Given the description of an element on the screen output the (x, y) to click on. 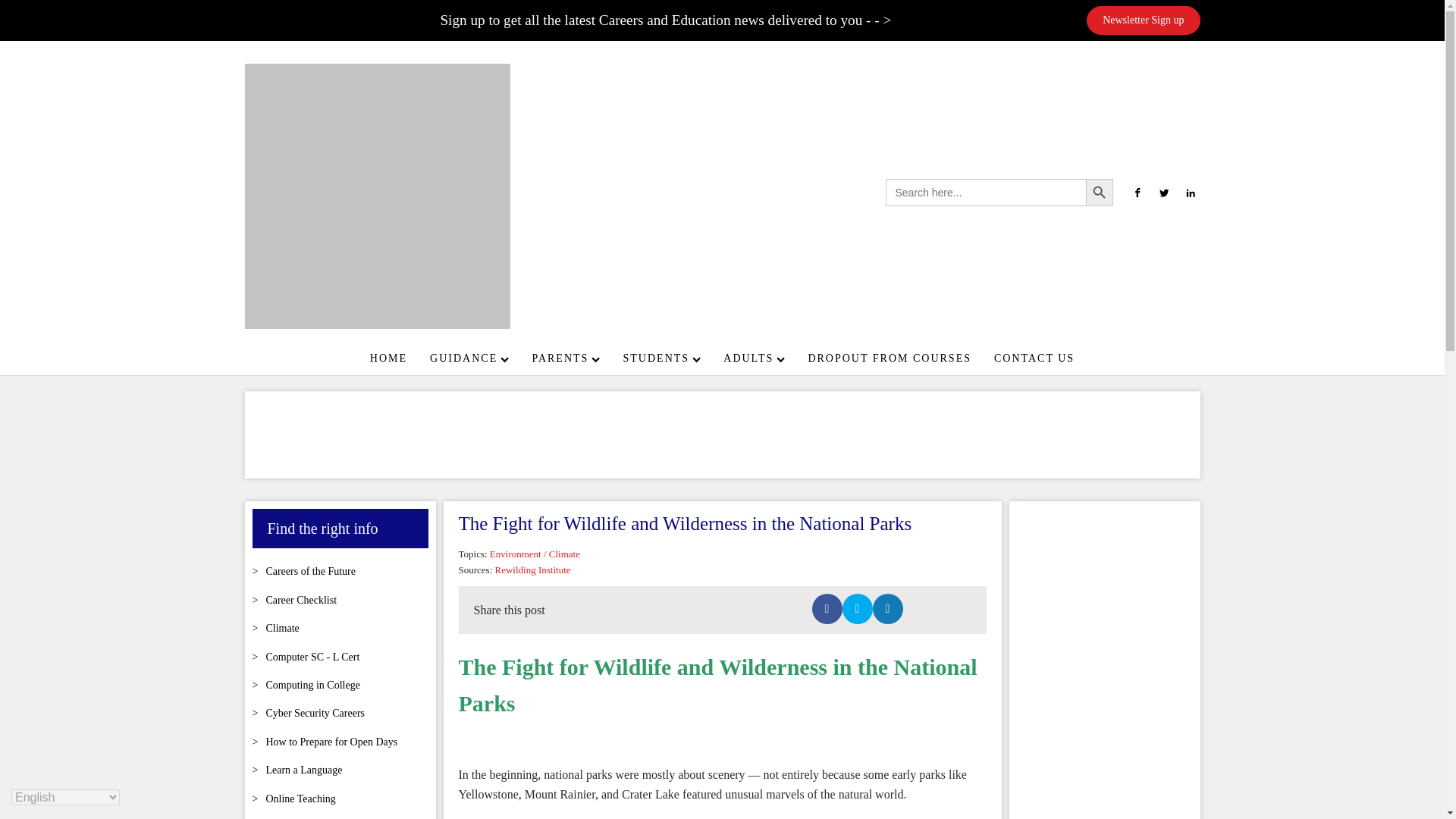
Search Button (1099, 192)
PARENTS (565, 358)
STUDENTS (662, 358)
GUIDANCE (469, 358)
Newsletter Sign up (1142, 20)
HOME (388, 358)
